Given the description of an element on the screen output the (x, y) to click on. 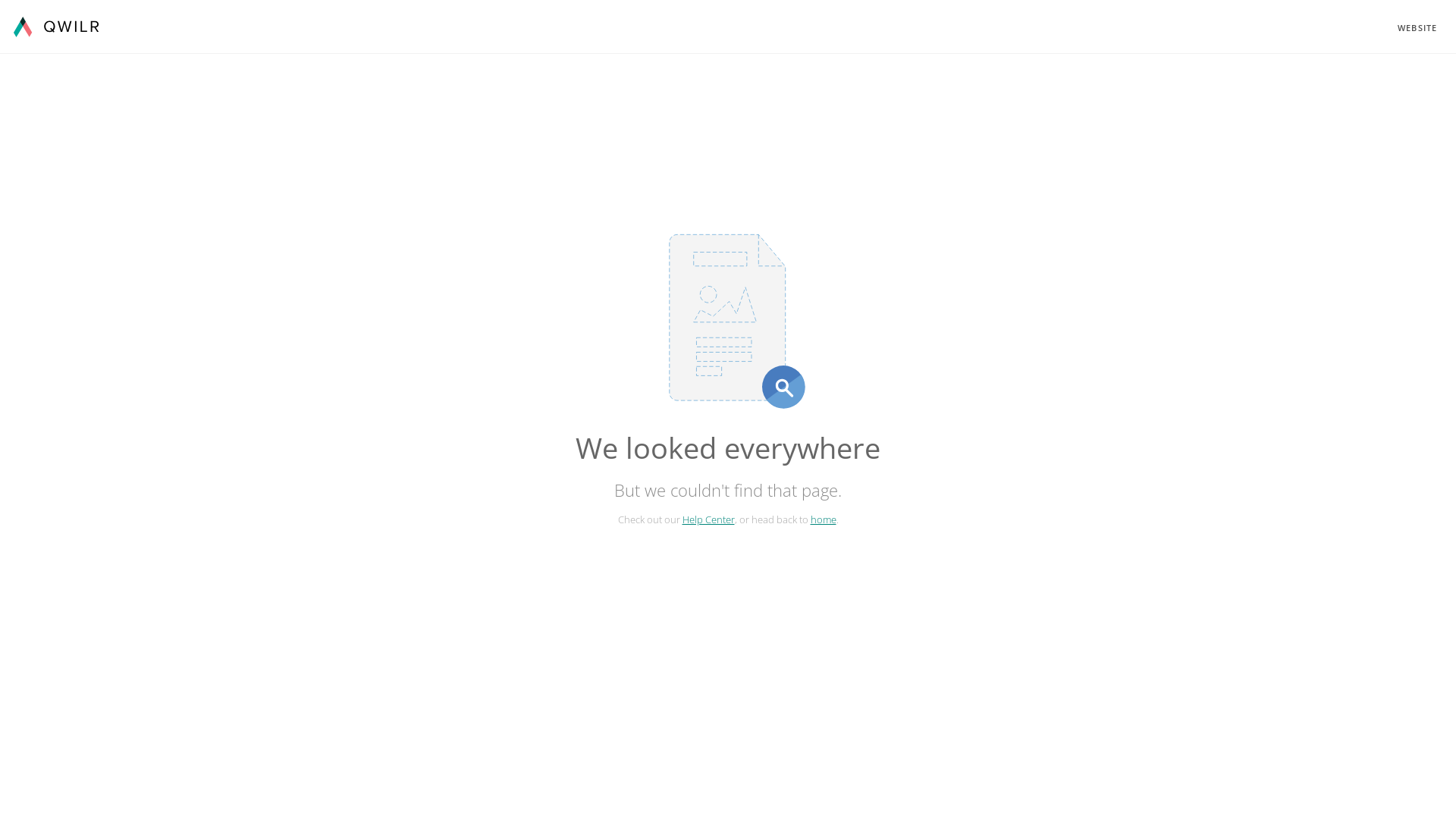
home Element type: text (822, 519)
WEBSITE Element type: text (1417, 27)
Help Center Element type: text (708, 519)
